Given the description of an element on the screen output the (x, y) to click on. 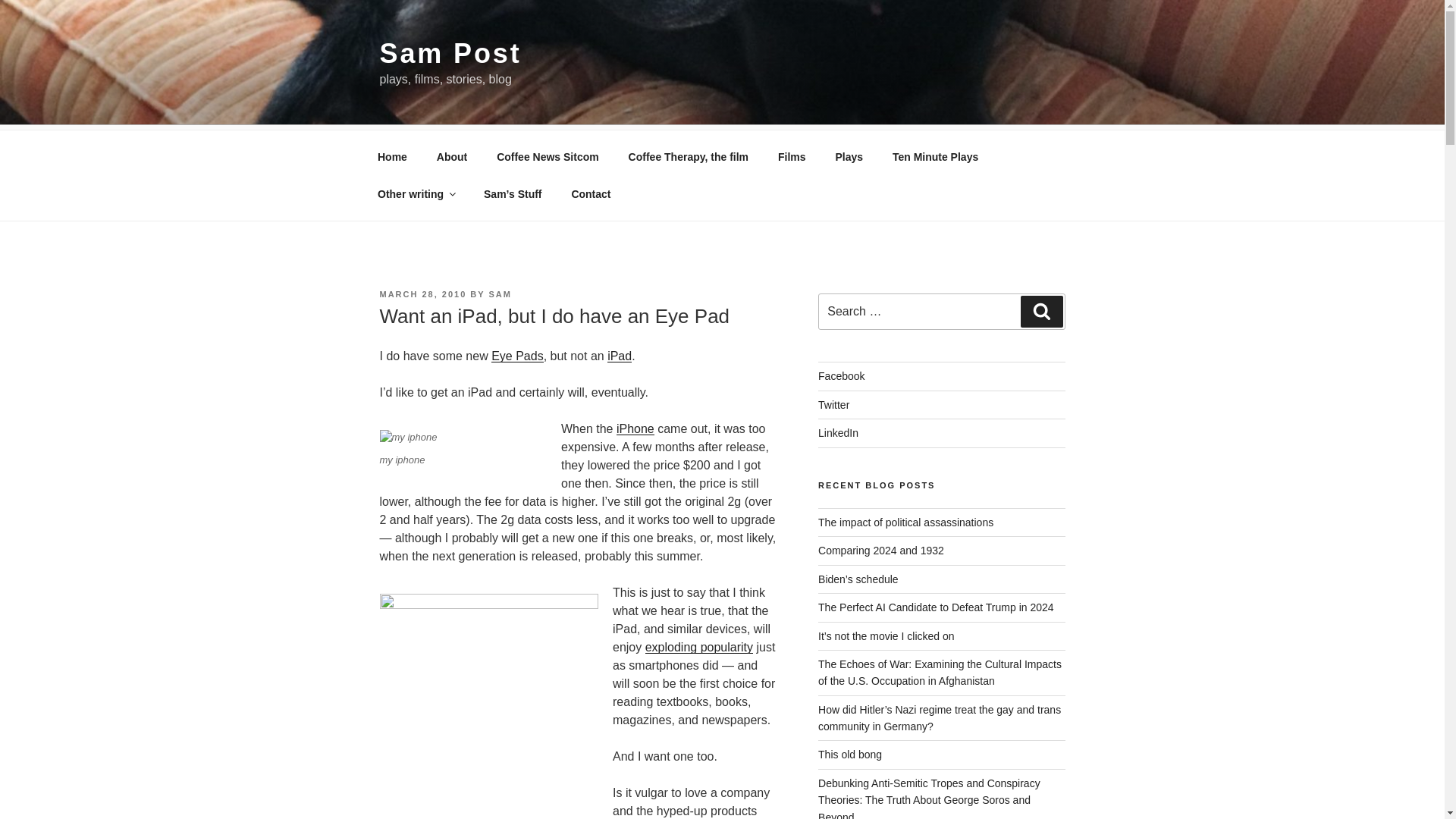
iPhone (634, 428)
MARCH 28, 2010 (421, 293)
Other writing (415, 194)
my iphone (407, 437)
iPad (619, 355)
Apple iPad (619, 355)
Ten Minute Plays (935, 156)
Coffee Therapy, the film (687, 156)
Sam Post (449, 52)
Contact (590, 194)
Coffee News Sitcom (547, 156)
Plays (849, 156)
About (451, 156)
Films (791, 156)
Apple iphone (634, 428)
